Given the description of an element on the screen output the (x, y) to click on. 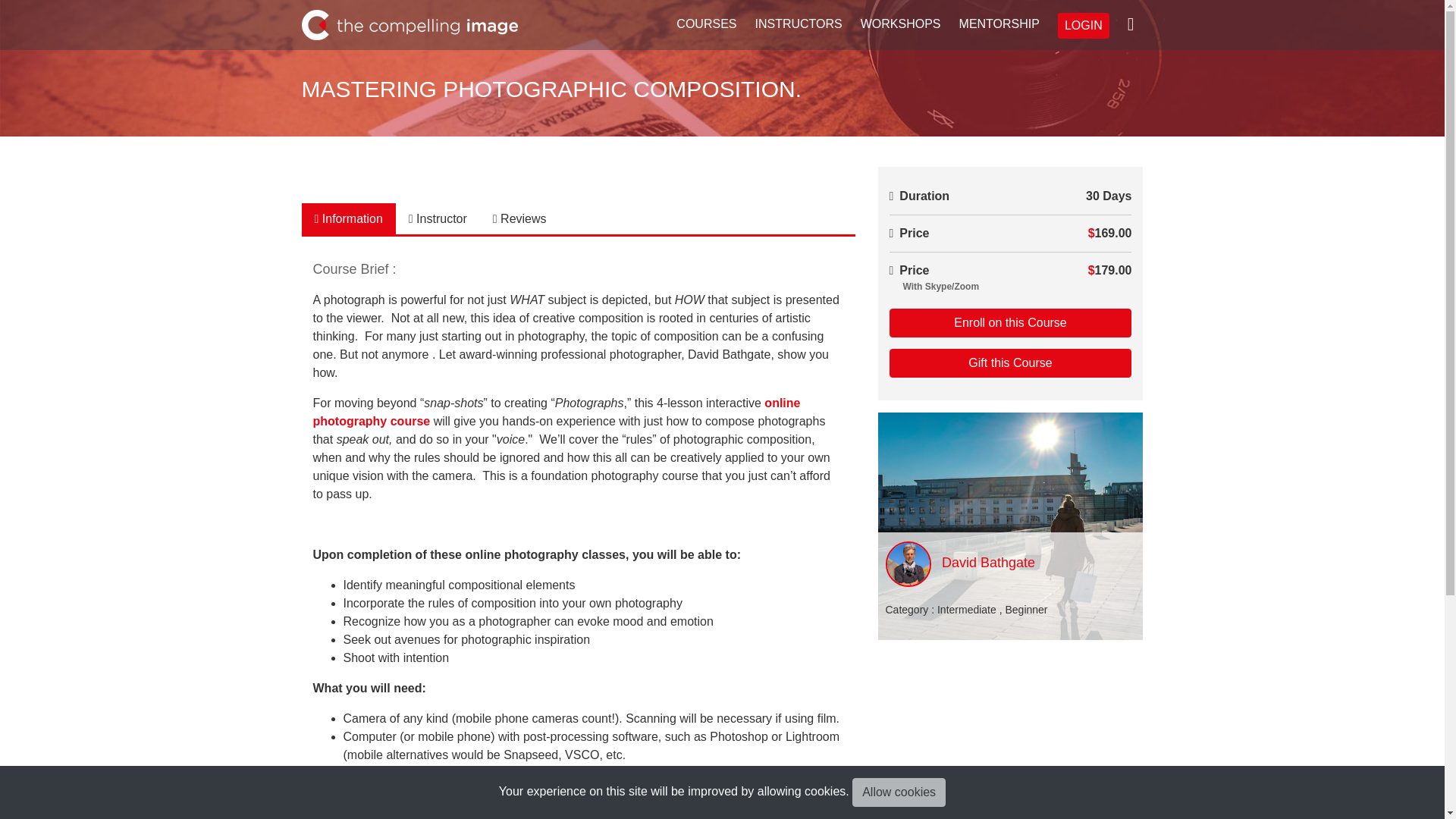
online photography course (556, 411)
Information (348, 219)
LOGIN (1083, 25)
Instructor (438, 219)
MENTORSHIP (999, 24)
COURSES (705, 24)
Reviews (519, 219)
INSTRUCTORS (797, 24)
WORKSHOPS (900, 24)
